Given the description of an element on the screen output the (x, y) to click on. 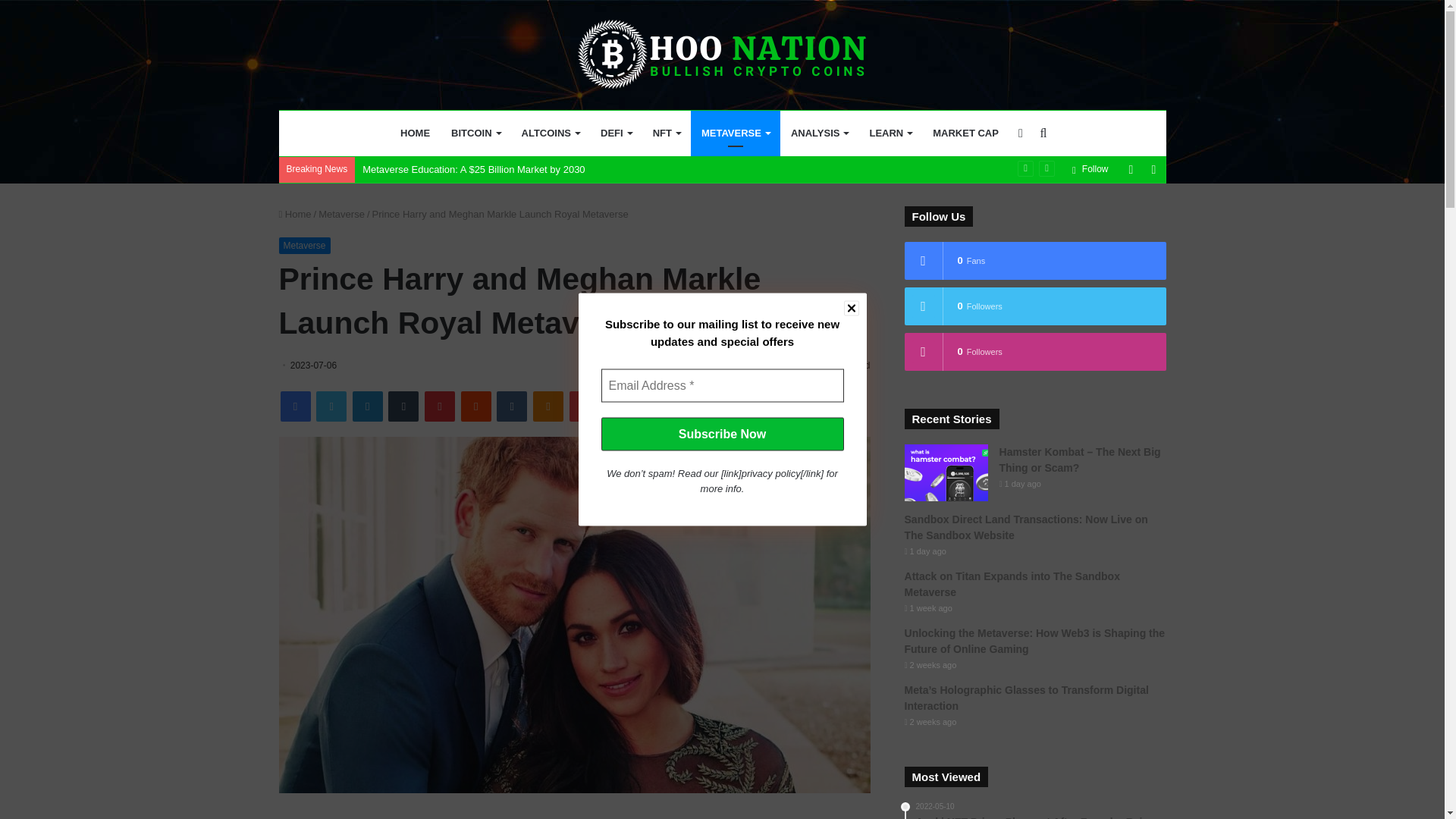
VKontakte (511, 406)
LEARN (890, 133)
Pinterest (439, 406)
ALTCOINS (550, 133)
Subscribe Now (721, 433)
Subscribe Now (721, 433)
LinkedIn (367, 406)
Tumblr (403, 406)
Tumblr (403, 406)
Metaverse (341, 214)
HOME (415, 133)
BITCOIN (476, 133)
Pocket (583, 406)
DEFI (615, 133)
VKontakte (511, 406)
